Given the description of an element on the screen output the (x, y) to click on. 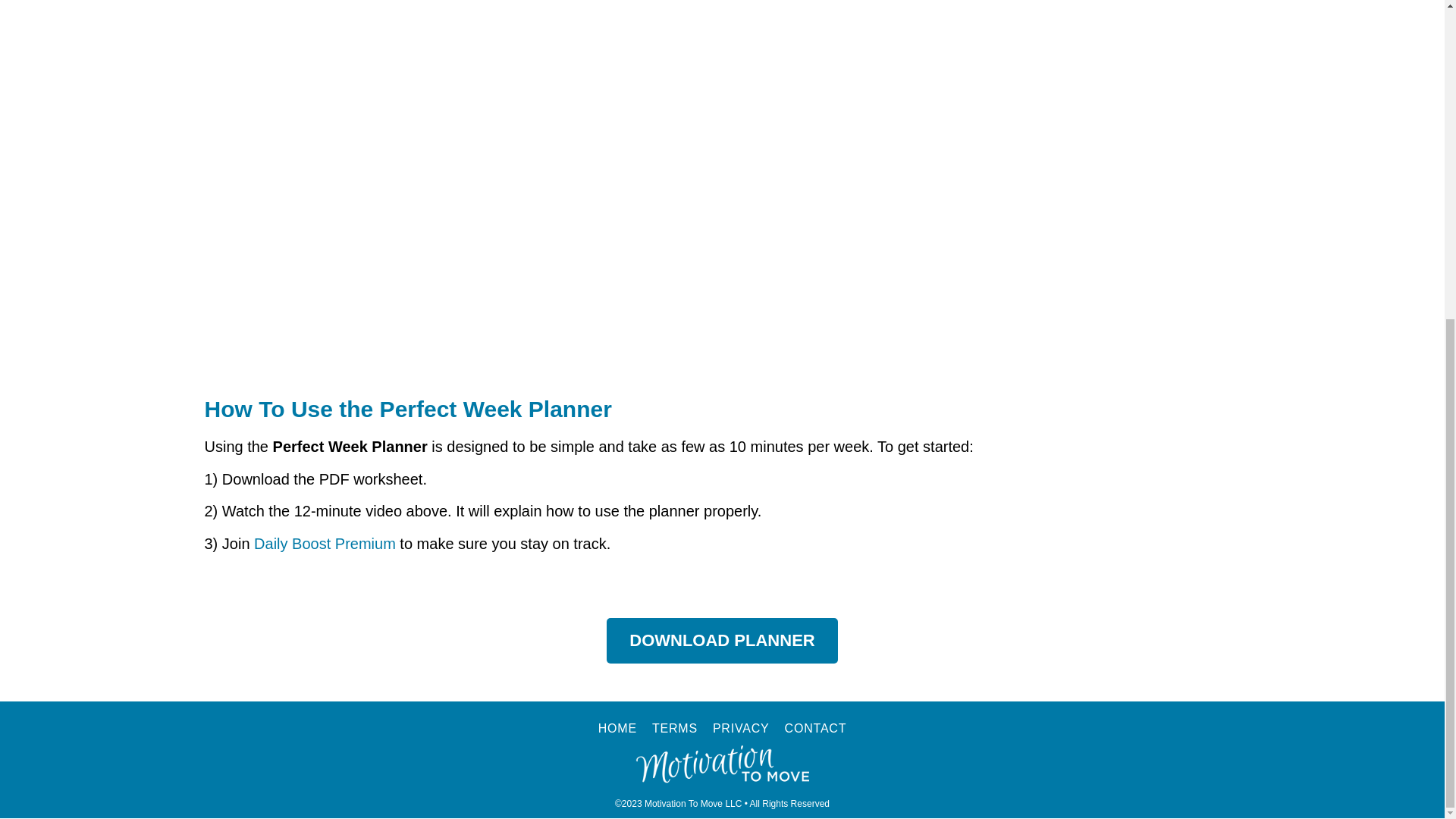
PRIVACY (741, 728)
TERMS (674, 728)
CONTACT (815, 728)
HOME (617, 728)
Daily Boost Premium (324, 543)
DOWNLOAD PLANNER (722, 640)
